Given the description of an element on the screen output the (x, y) to click on. 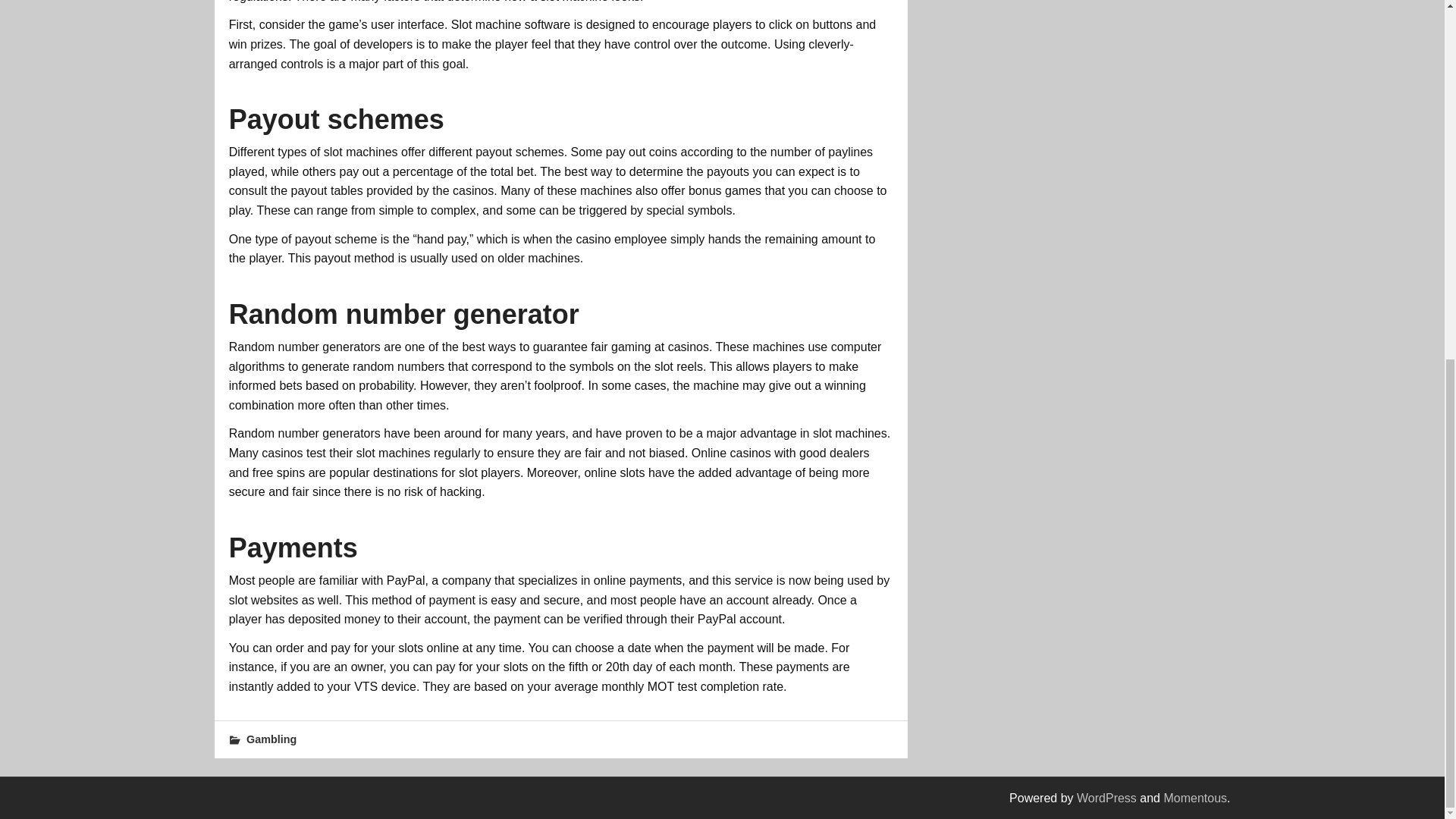
Momentous WordPress Theme (1195, 797)
WordPress (1107, 797)
Momentous (1195, 797)
WordPress (1107, 797)
Gambling (271, 739)
